Given the description of an element on the screen output the (x, y) to click on. 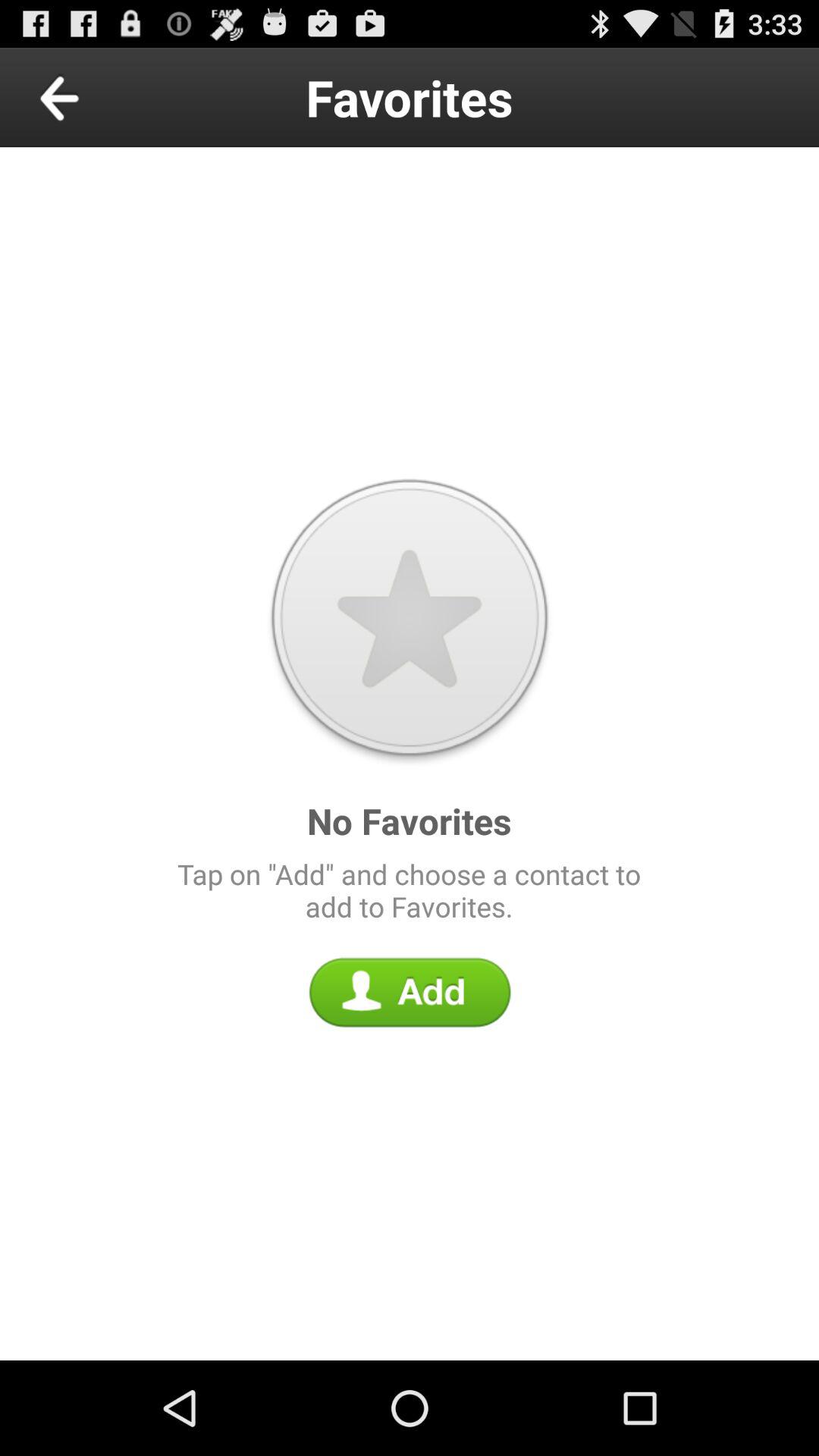
go back (94, 97)
